Given the description of an element on the screen output the (x, y) to click on. 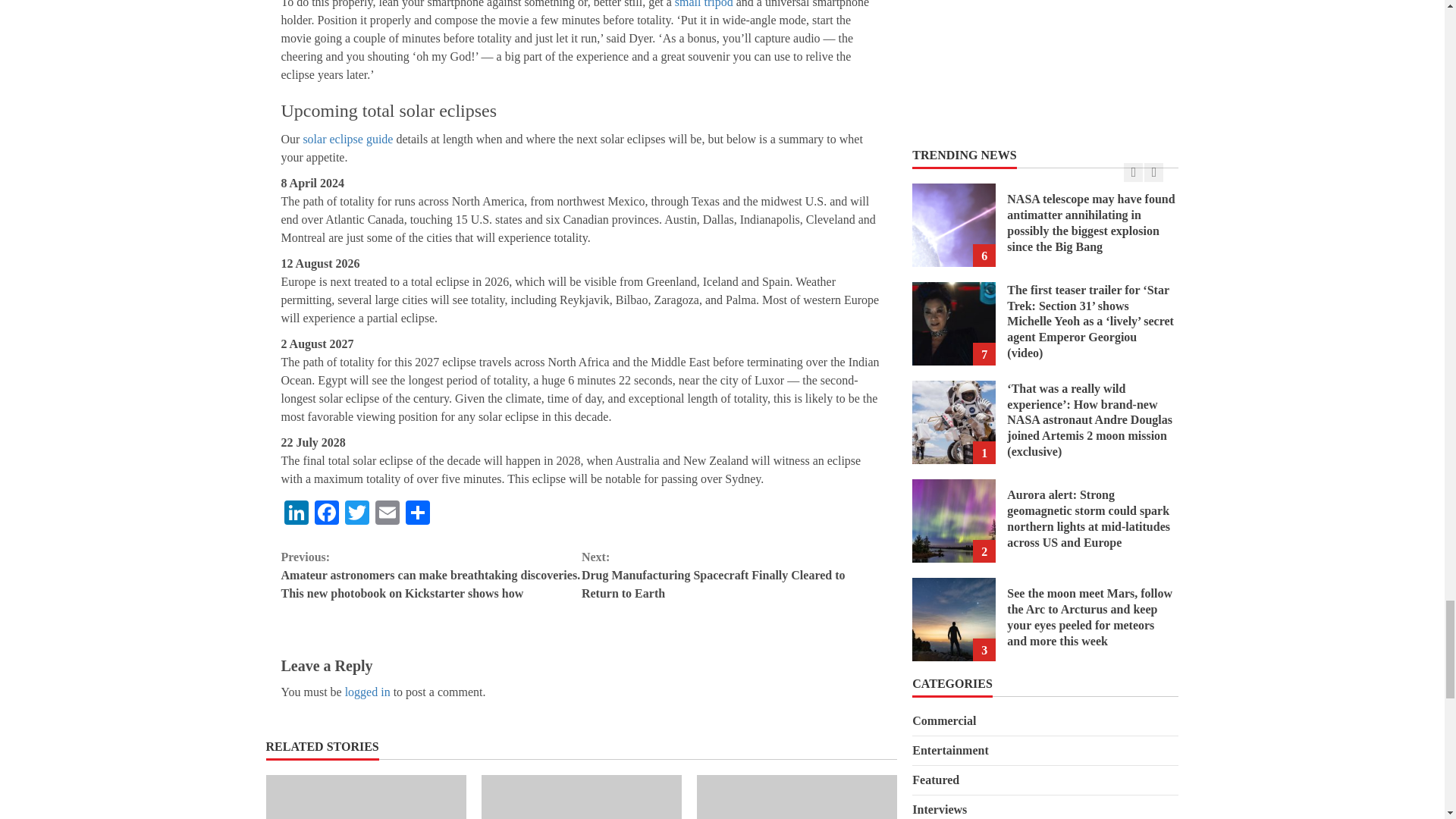
LinkedIn (296, 514)
Facebook (325, 514)
Email (386, 514)
Twitter (355, 514)
